Given the description of an element on the screen output the (x, y) to click on. 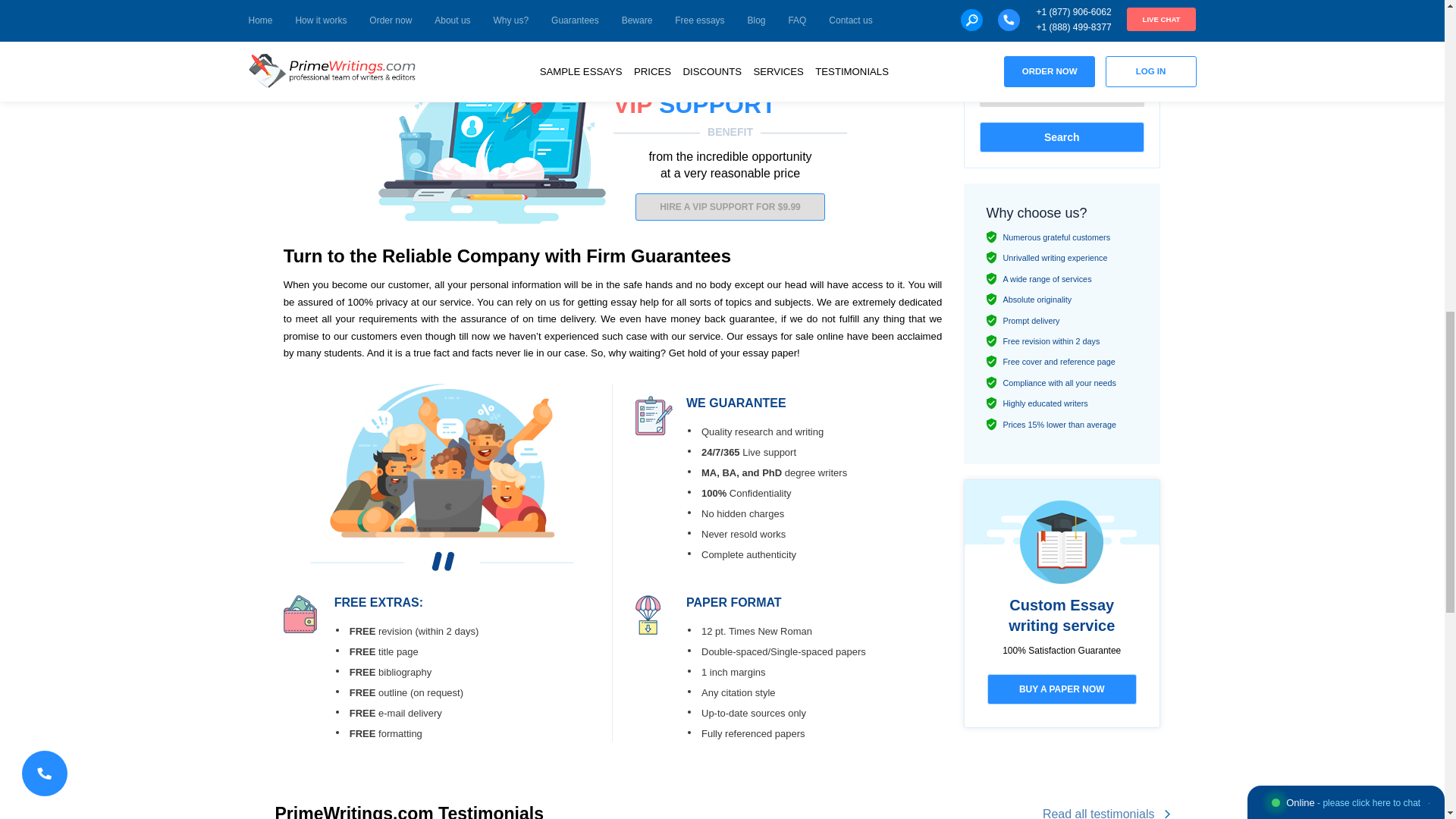
Search (1061, 137)
